Given the description of an element on the screen output the (x, y) to click on. 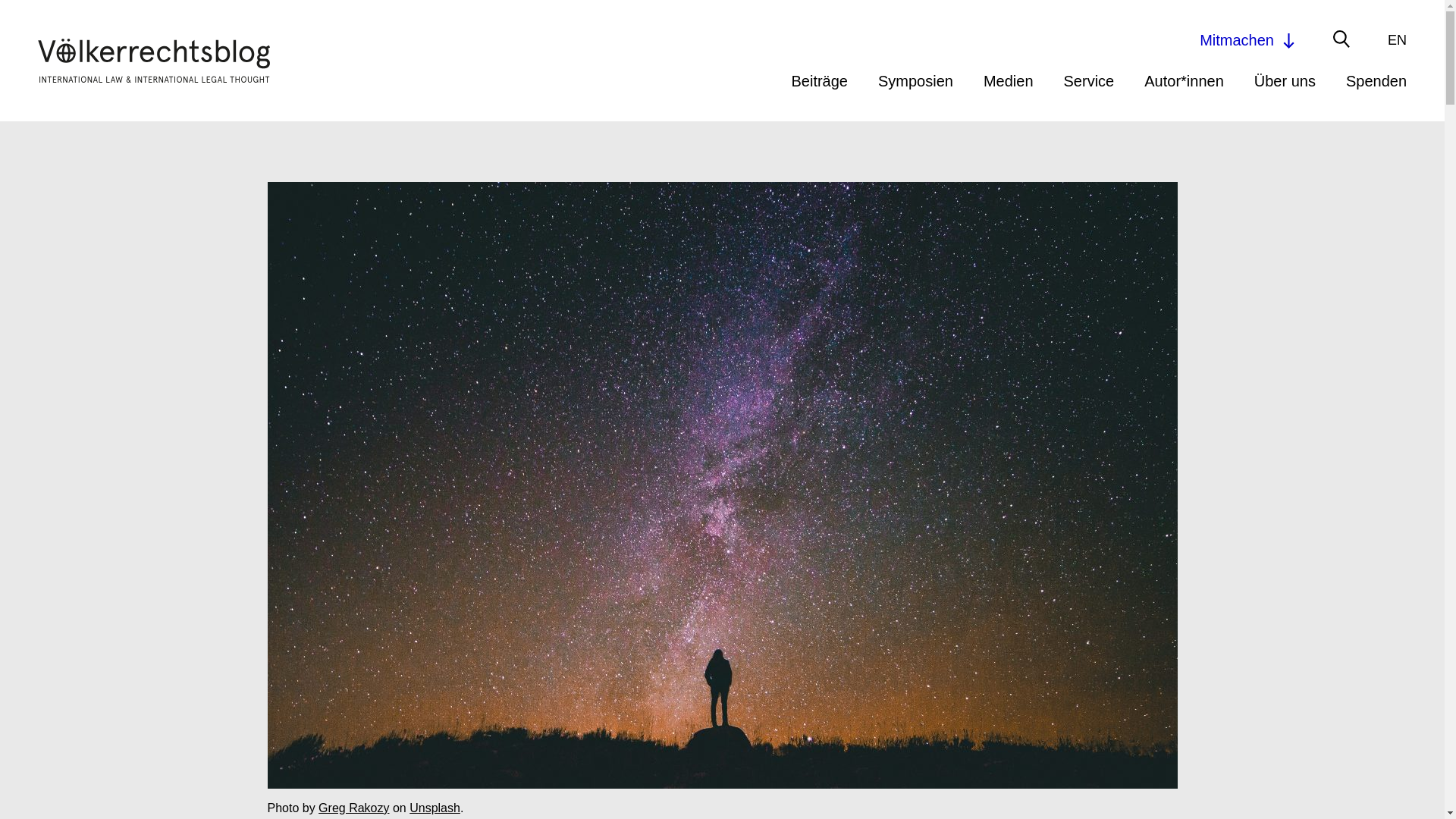
Mitmachen (1248, 39)
Symposien (915, 80)
Service (1089, 80)
EN (1396, 39)
Spenden (1375, 80)
search (1027, 42)
Medien (1008, 80)
